Given the description of an element on the screen output the (x, y) to click on. 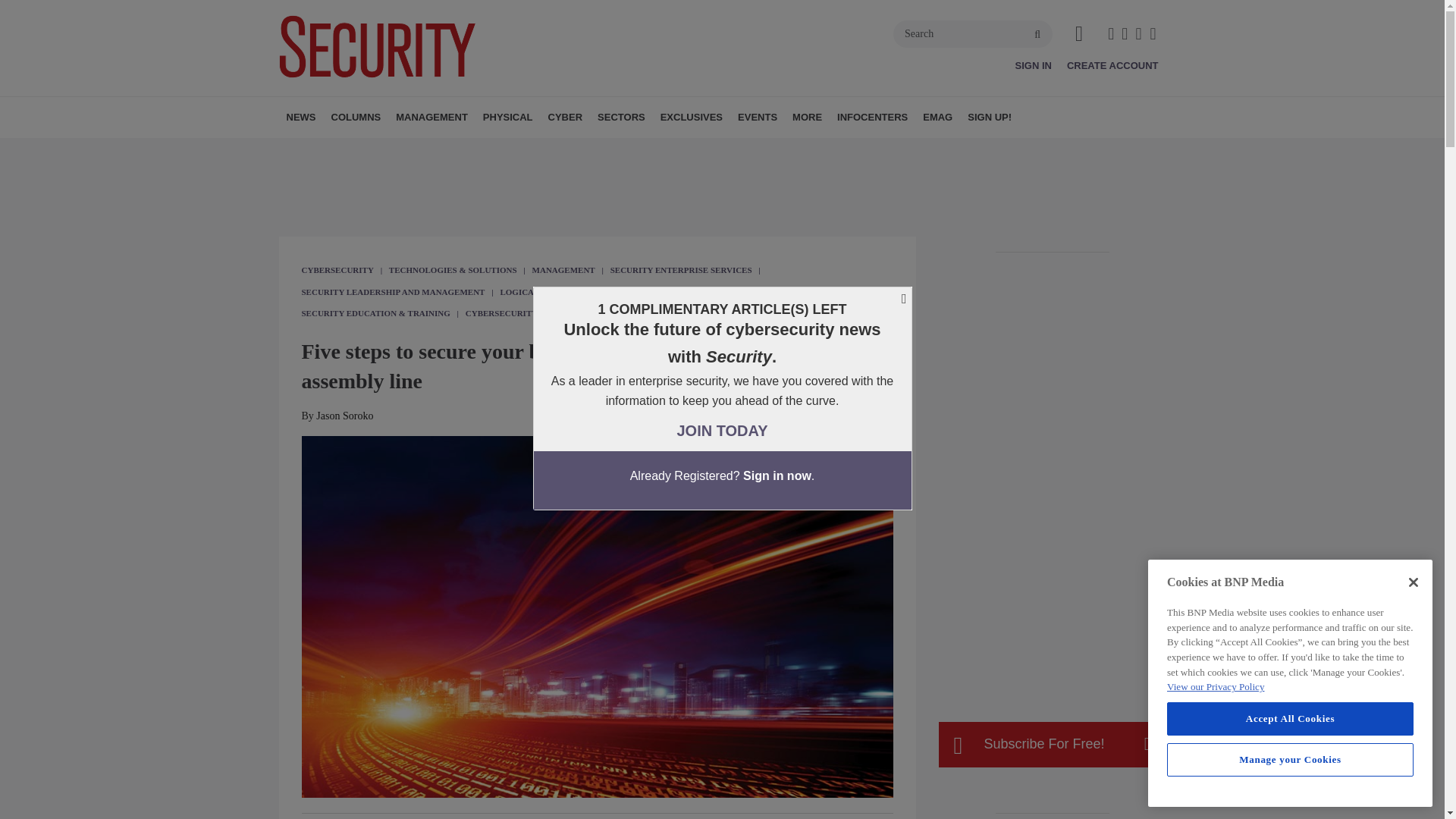
Search (972, 33)
Search (972, 33)
